Given the description of an element on the screen output the (x, y) to click on. 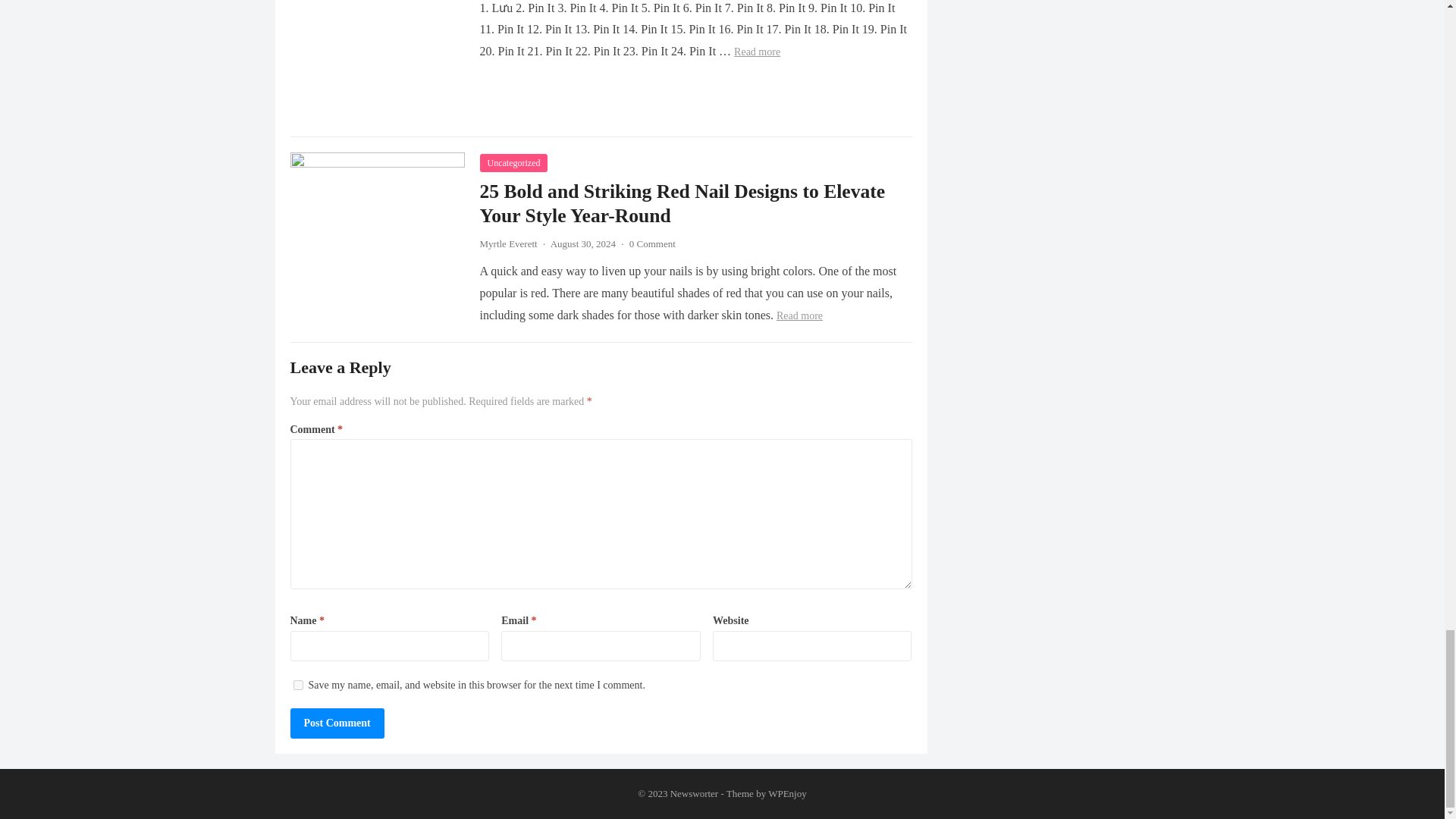
Posts by Myrtle Everett (508, 243)
yes (297, 685)
Post Comment (336, 723)
